Given the description of an element on the screen output the (x, y) to click on. 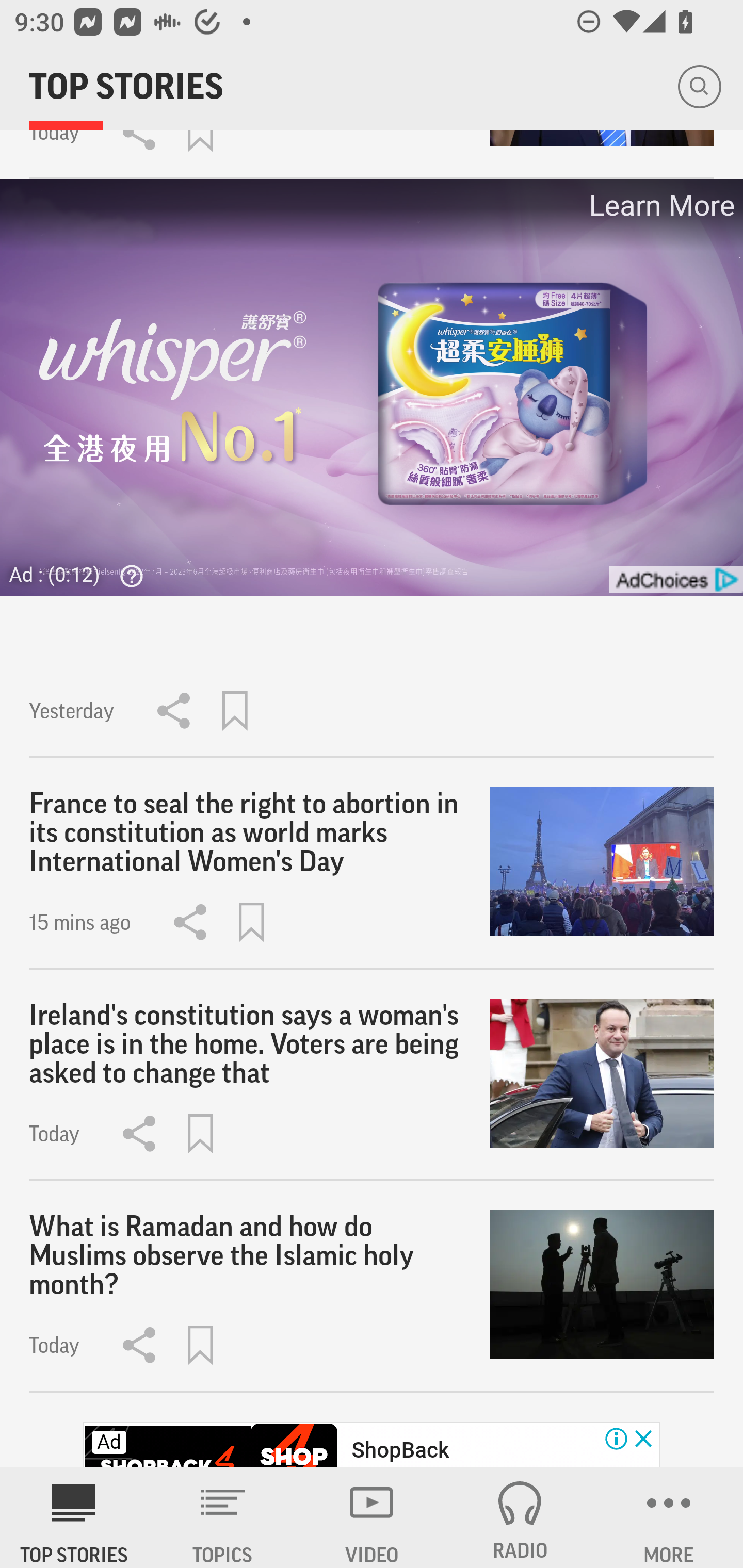
Learn More (660, 205)
Ad : (0:12) Why This Ad? (82, 574)
Why This Ad? (126, 575)
get?name=admarker-full-tl (675, 580)
ShopBack (400, 1450)
AP News TOP STORIES (74, 1517)
TOPICS (222, 1517)
VIDEO (371, 1517)
RADIO (519, 1517)
MORE (668, 1517)
